Given the description of an element on the screen output the (x, y) to click on. 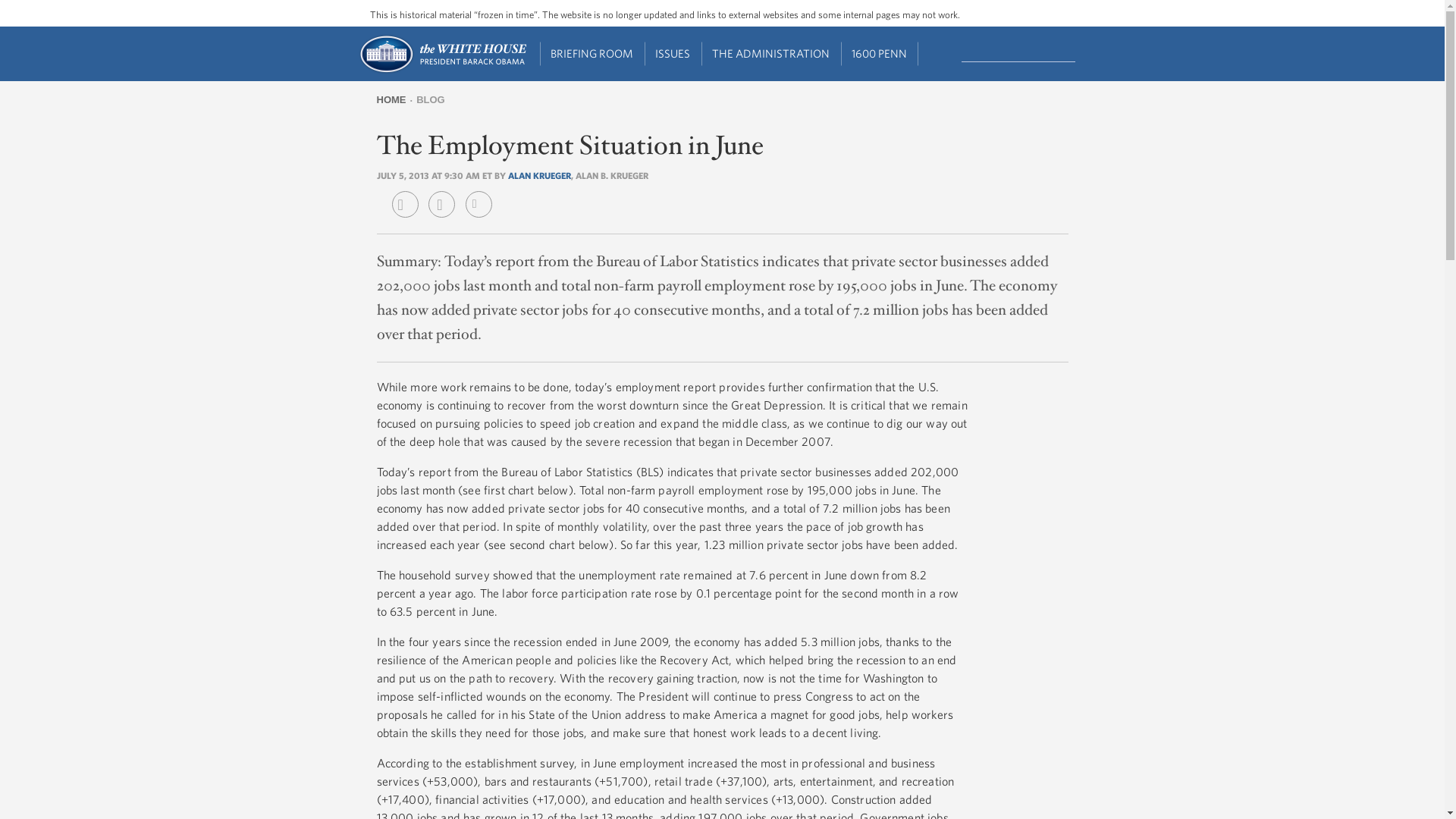
Home (441, 70)
Enter the terms you wish to search for. (1017, 52)
Search (1076, 51)
BRIEFING ROOM (592, 53)
ISSUES (673, 53)
